Given the description of an element on the screen output the (x, y) to click on. 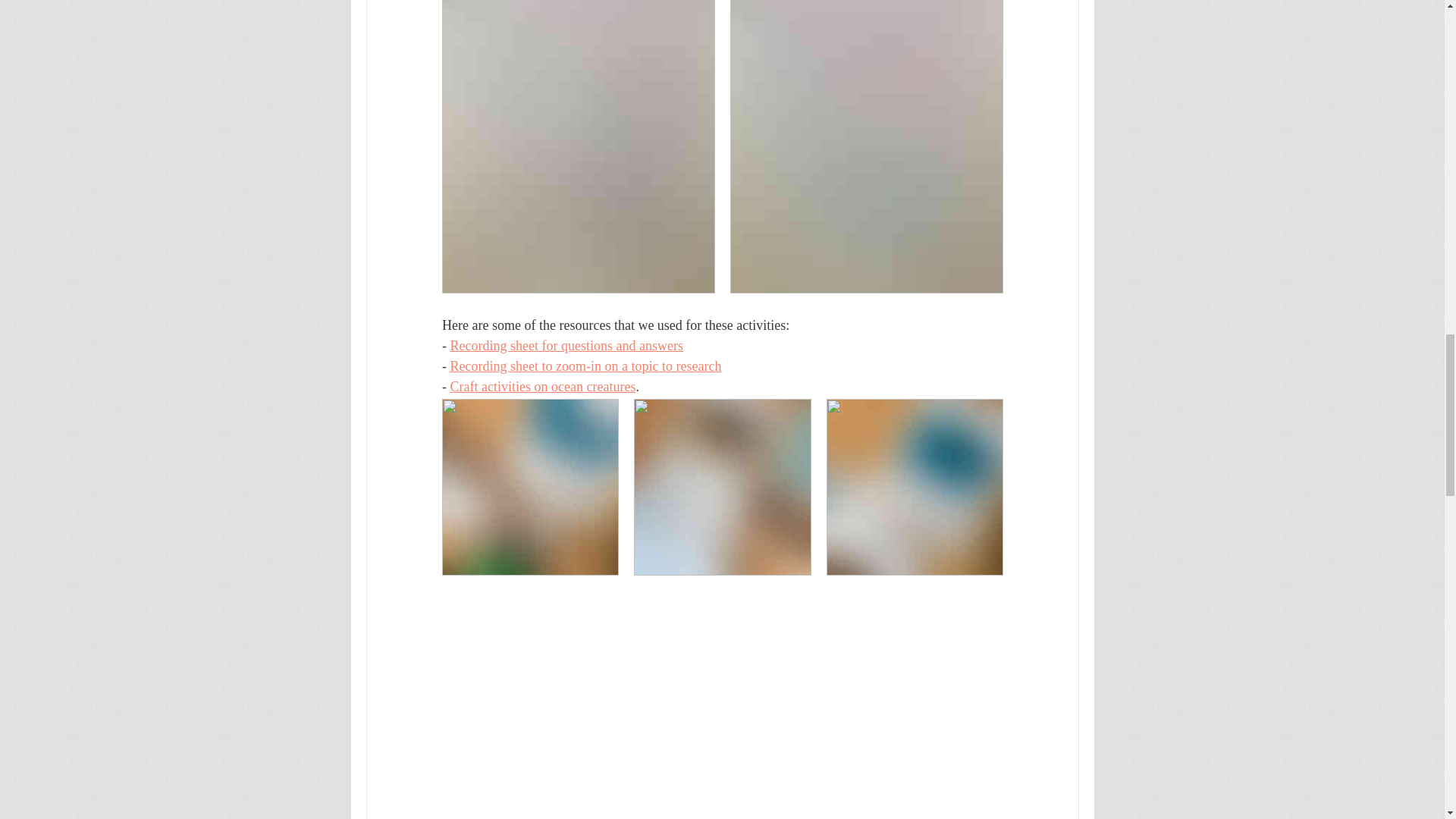
Recording sheet for questions and answers (565, 345)
Recording sheet to zoom-in on a topic to research (584, 365)
Craft activities on ocean creatures (541, 386)
